Given the description of an element on the screen output the (x, y) to click on. 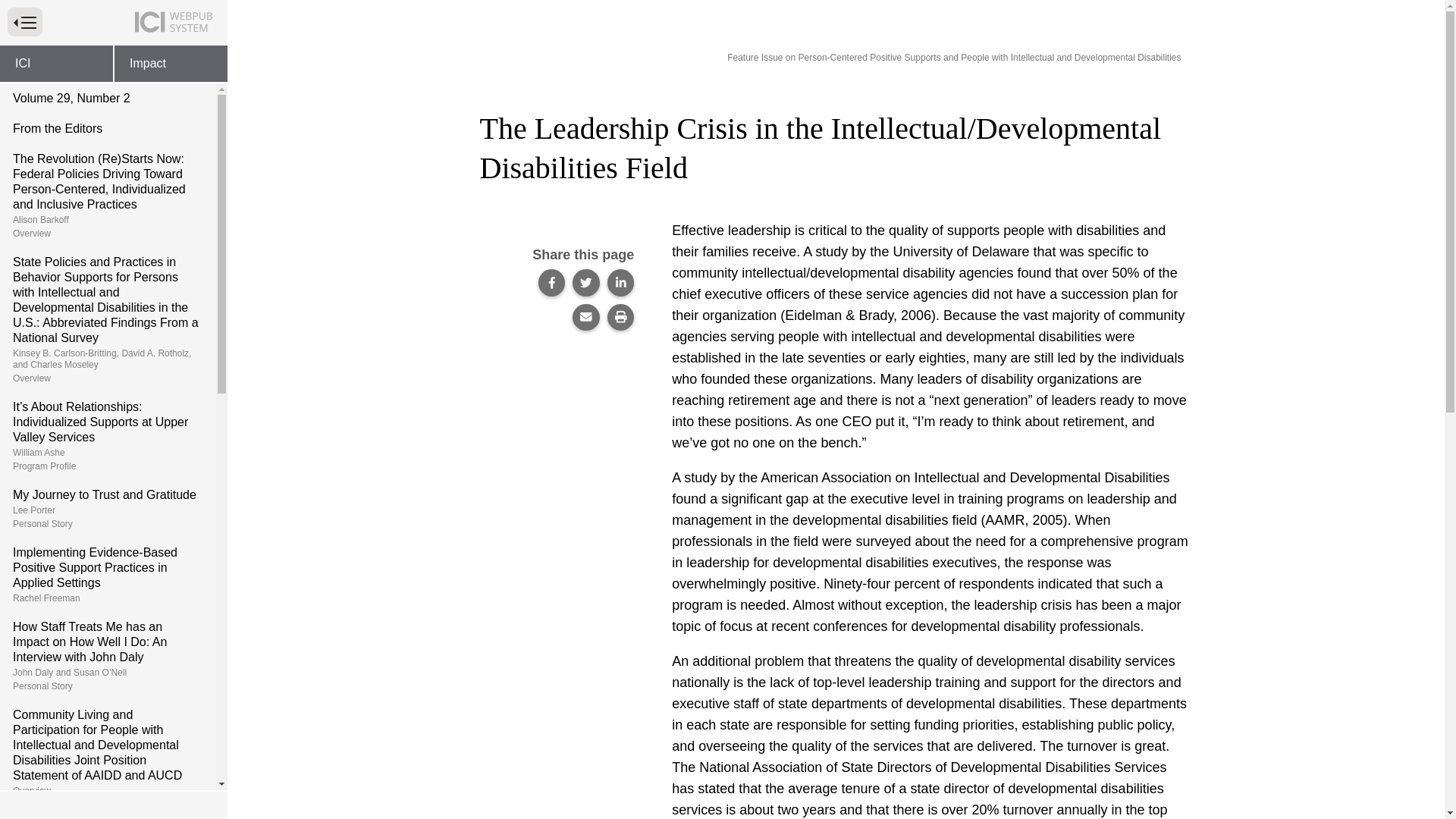
ICI (56, 63)
Share this page via email. (585, 317)
Volume 29, Number 2 (107, 98)
Print this page. (620, 317)
Share this page on LinkedIn. (107, 811)
Share this page on Facebook. (620, 282)
Press to Toggle Website Primary Navigation (552, 282)
From the Editors (107, 508)
Share this page on Twitter. (24, 21)
Impact (107, 128)
